Given the description of an element on the screen output the (x, y) to click on. 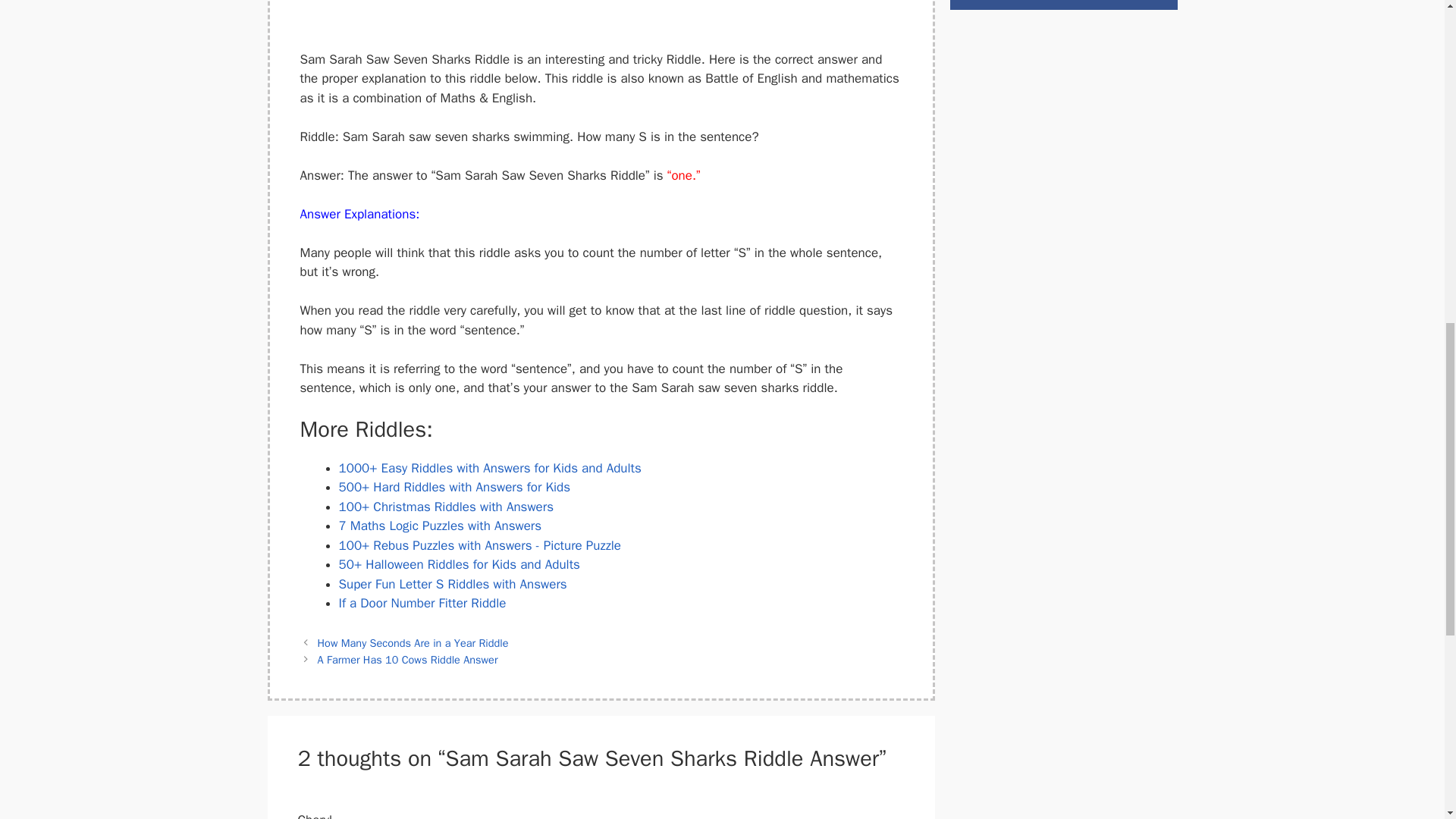
7 Maths Logic Puzzles with Answers (439, 525)
Scroll back to top (1406, 720)
How Many Seconds Are in a Year Riddle (412, 643)
A Farmer Has 10 Cows Riddle Answer (407, 659)
If a Door Number Fitter Riddle (421, 602)
Super Fun Letter S Riddles with Answers (451, 584)
